Given the description of an element on the screen output the (x, y) to click on. 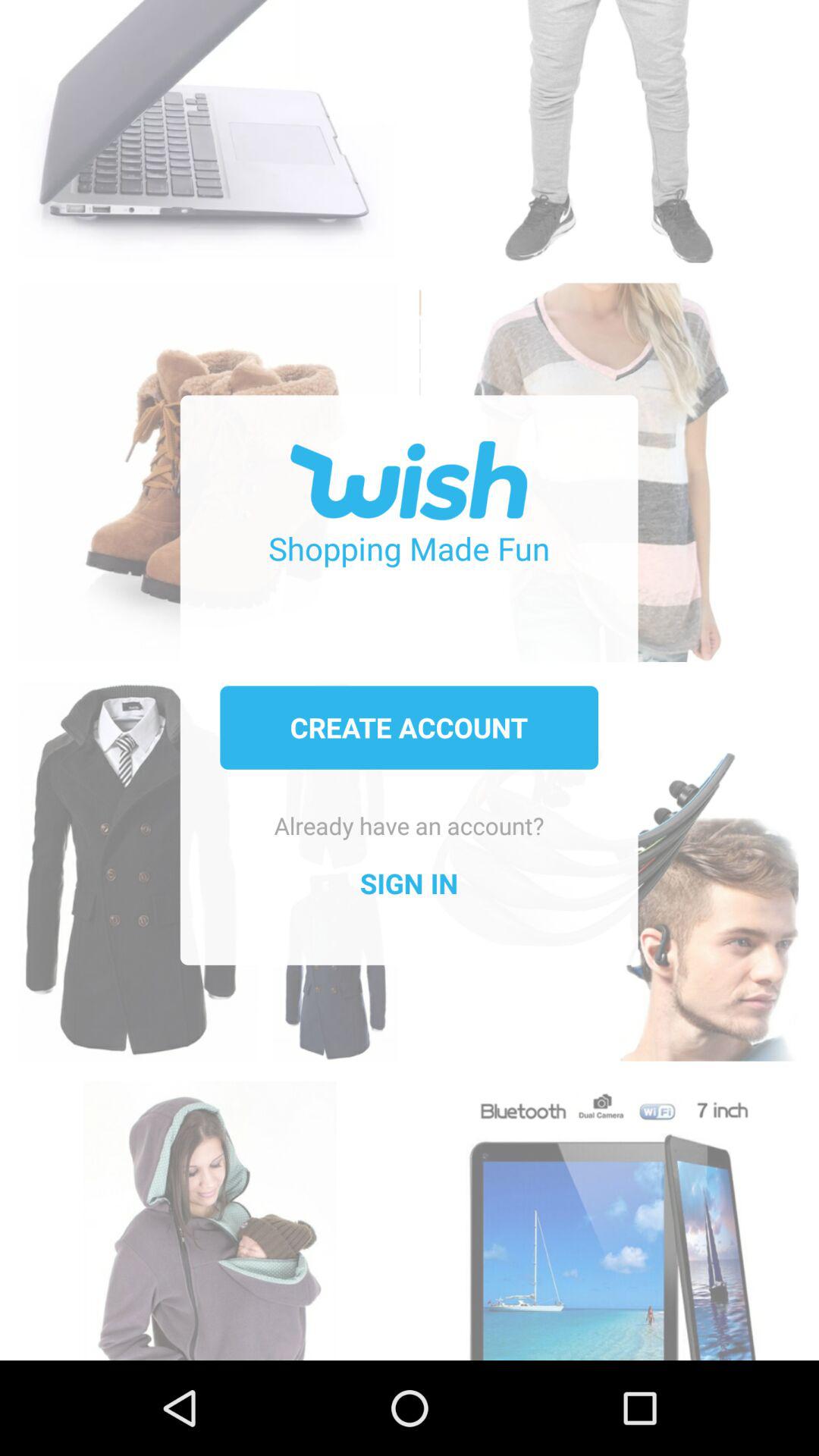
press item on the left (209, 855)
